Given the description of an element on the screen output the (x, y) to click on. 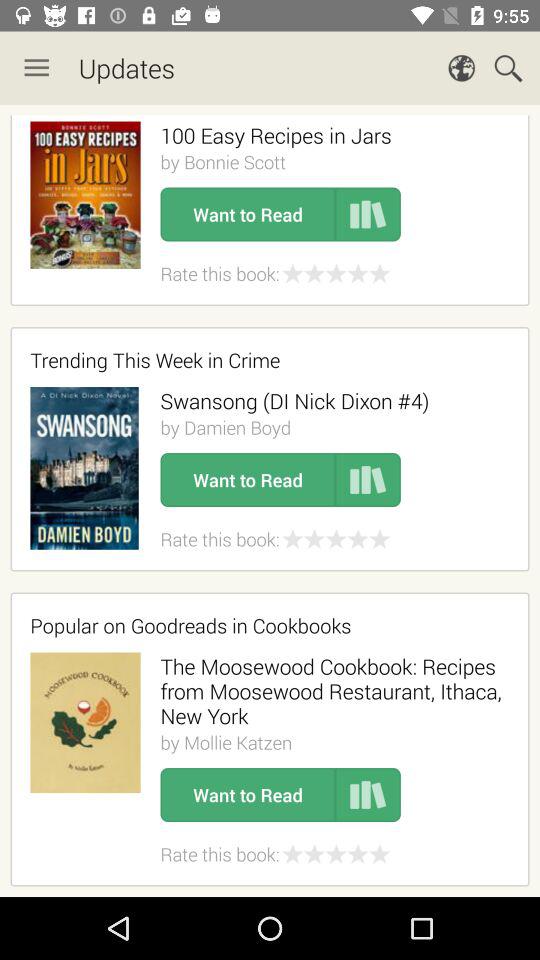
select the item below the the moosewood cookbook (226, 742)
